Given the description of an element on the screen output the (x, y) to click on. 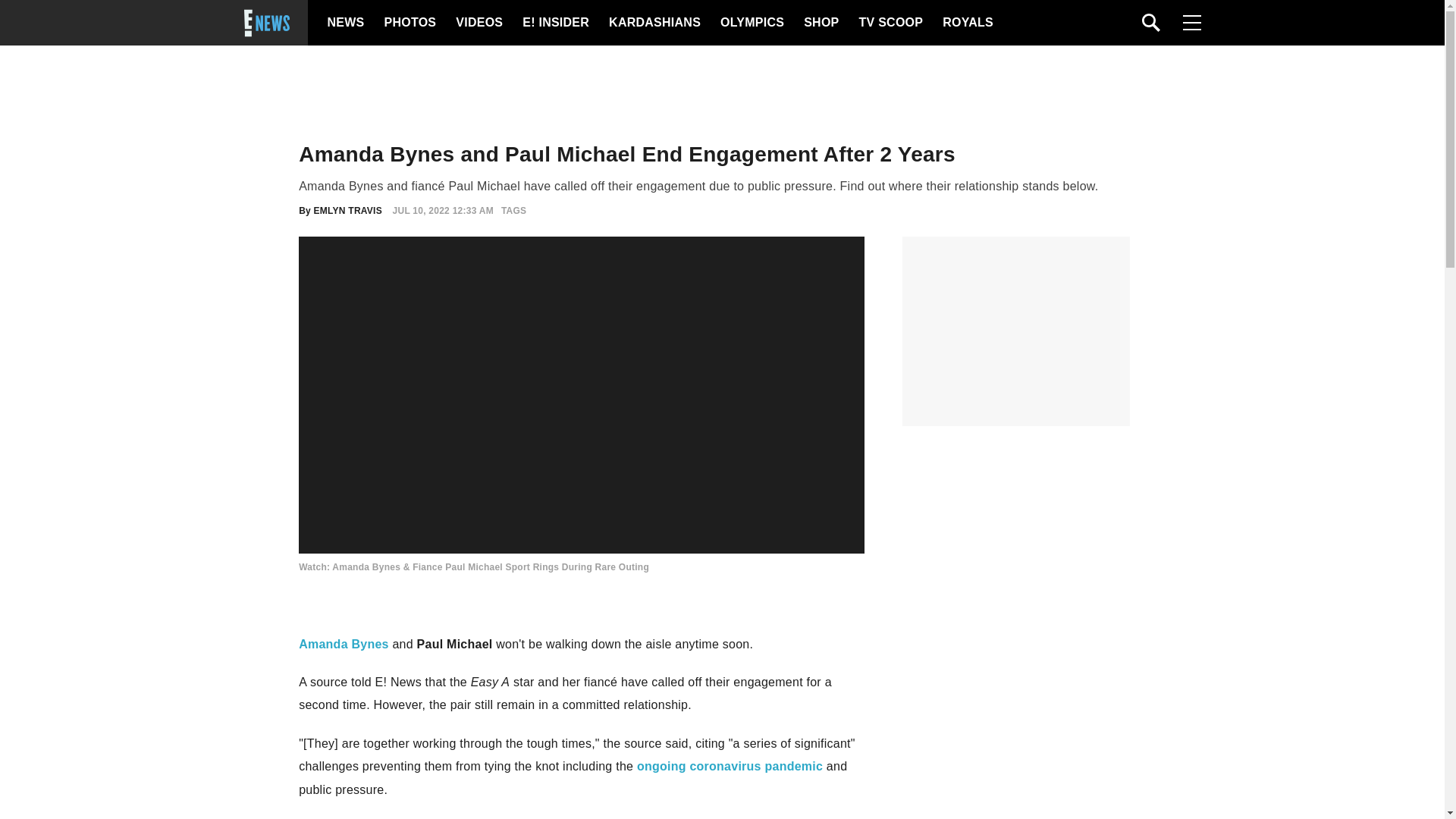
E! INSIDER (555, 22)
OLYMPICS (751, 22)
SHOP (820, 22)
NEWS (345, 22)
ongoing coronavirus pandemic (729, 766)
TV SCOOP (890, 22)
VIDEOS (478, 22)
EMLYN TRAVIS (347, 210)
Amanda Bynes (343, 644)
KARDASHIANS (653, 22)
